Given the description of an element on the screen output the (x, y) to click on. 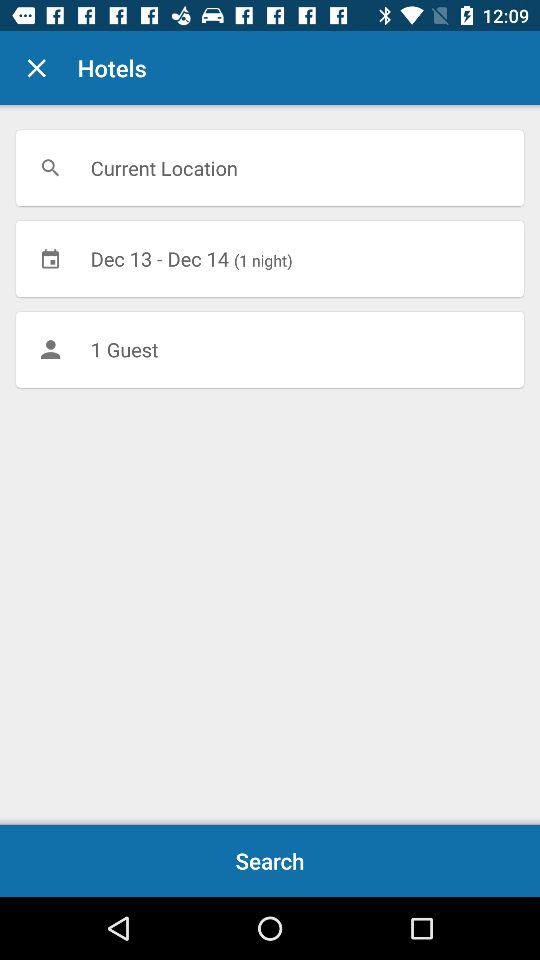
press current location (269, 168)
